Given the description of an element on the screen output the (x, y) to click on. 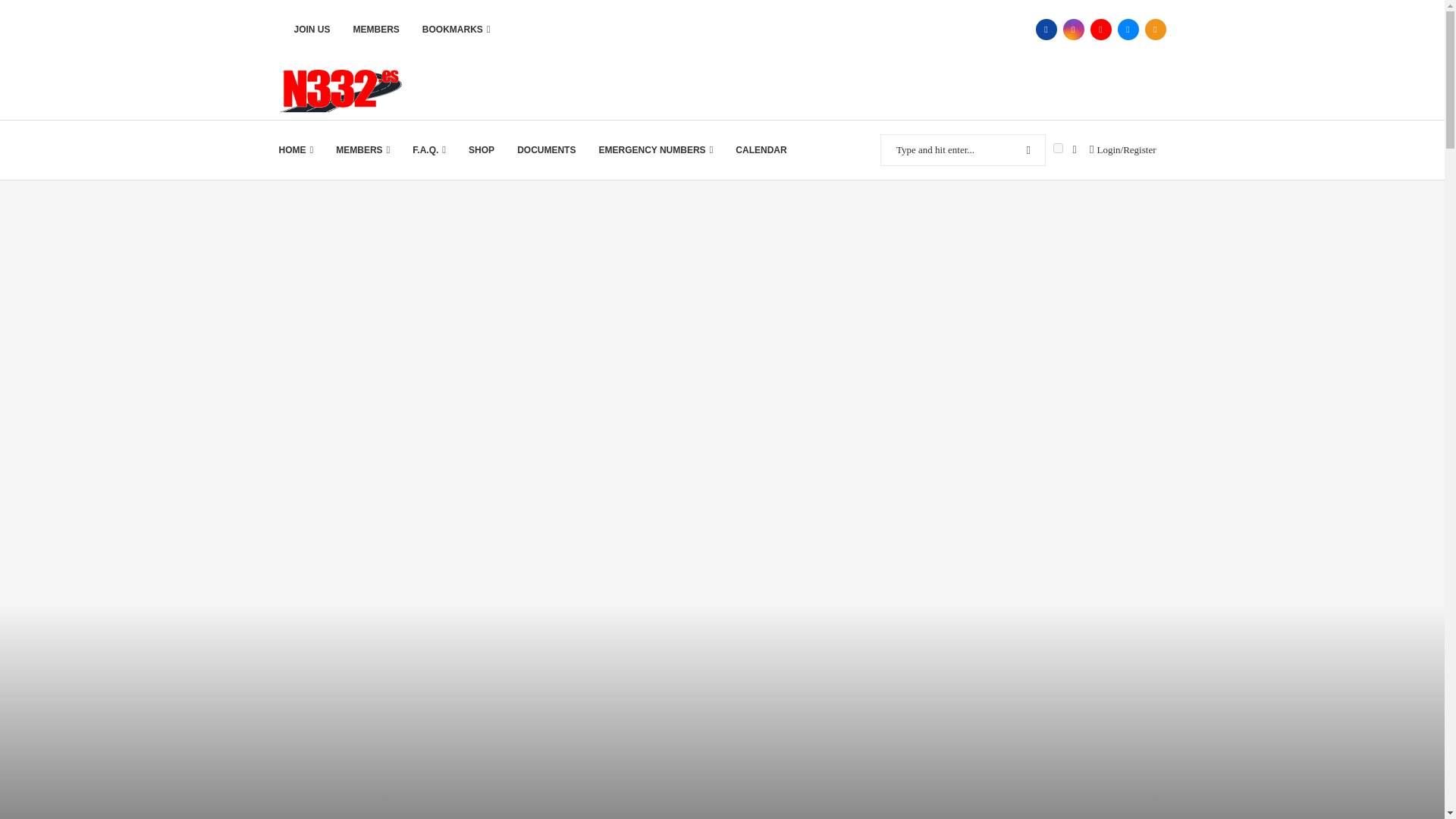
Bookmark (1074, 150)
Takes you back to the start (296, 149)
Emergency telephone numbers in Spain (655, 149)
BOOKMARKS (456, 29)
Our F.A.Q. list (428, 149)
MEMBERS (375, 29)
JOIN US (312, 29)
on (1057, 148)
